Given the description of an element on the screen output the (x, y) to click on. 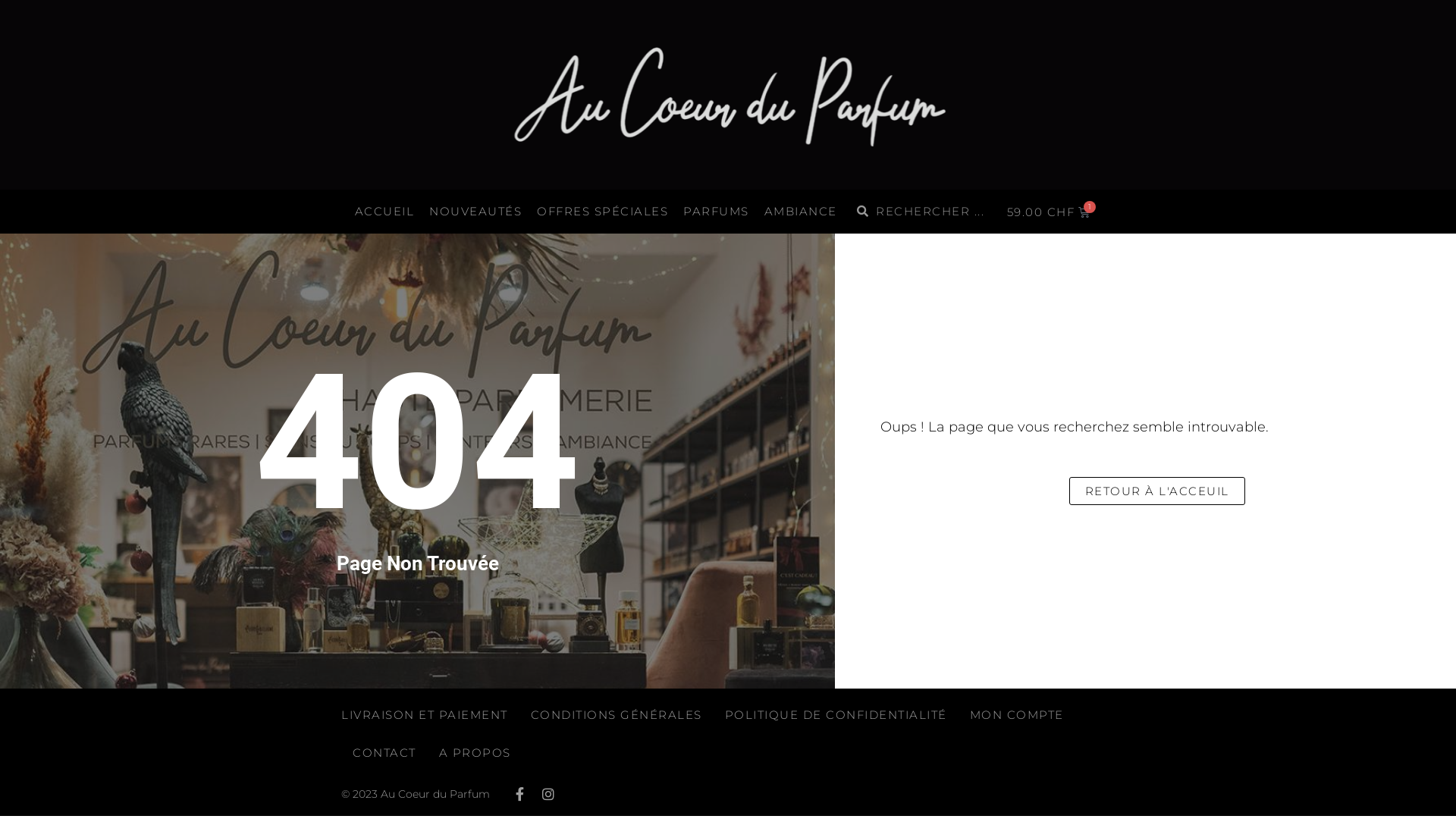
59.00 CHF
1
PANIER Element type: text (1048, 211)
PARFUMS Element type: text (715, 211)
AMBIANCE Element type: text (800, 211)
A PROPOS Element type: text (474, 752)
ACCUEIL Element type: text (384, 211)
Instagram Element type: text (548, 793)
LIVRAISON ET PAIEMENT Element type: text (424, 715)
Facebook-f Element type: text (519, 793)
CONTACT Element type: text (384, 752)
MON COMPTE Element type: text (1016, 715)
